Given the description of an element on the screen output the (x, y) to click on. 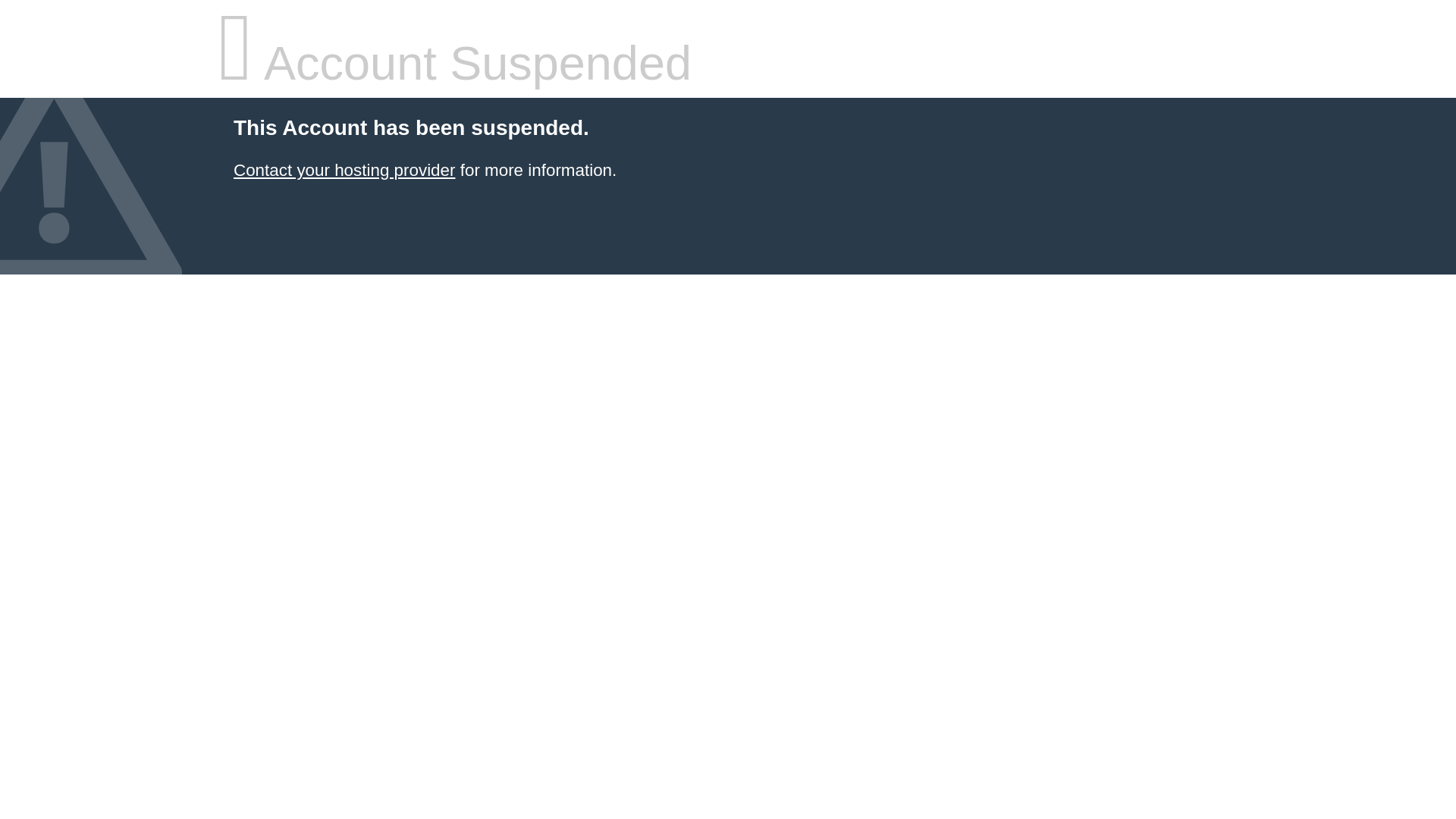
Contact your hosting provider (343, 169)
